Given the description of an element on the screen output the (x, y) to click on. 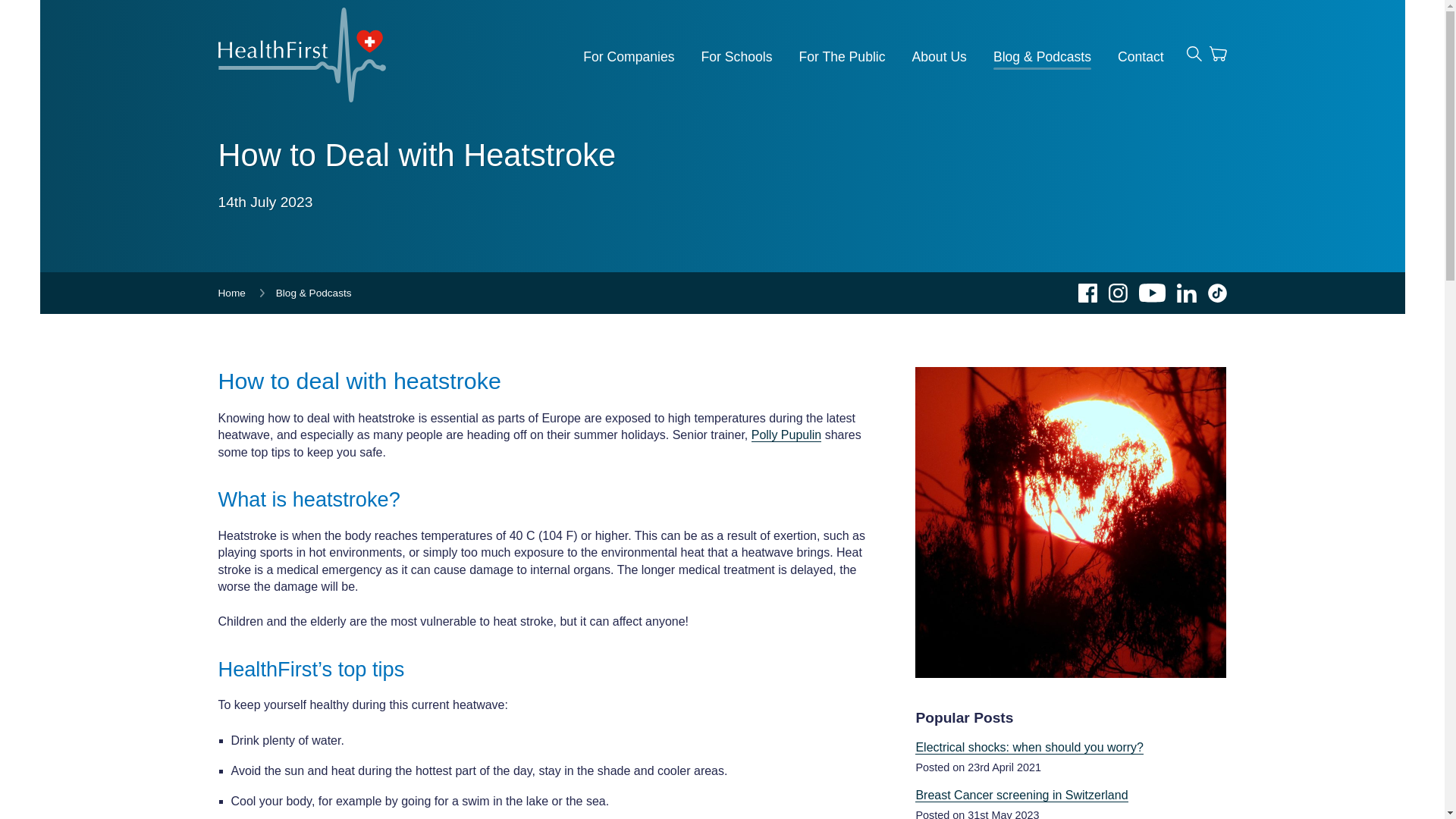
Polly Pupulin (786, 435)
Home (232, 293)
For Companies (628, 55)
Contact (1140, 55)
For The Public (841, 55)
About Us (939, 55)
For Schools (737, 55)
